Given the description of an element on the screen output the (x, y) to click on. 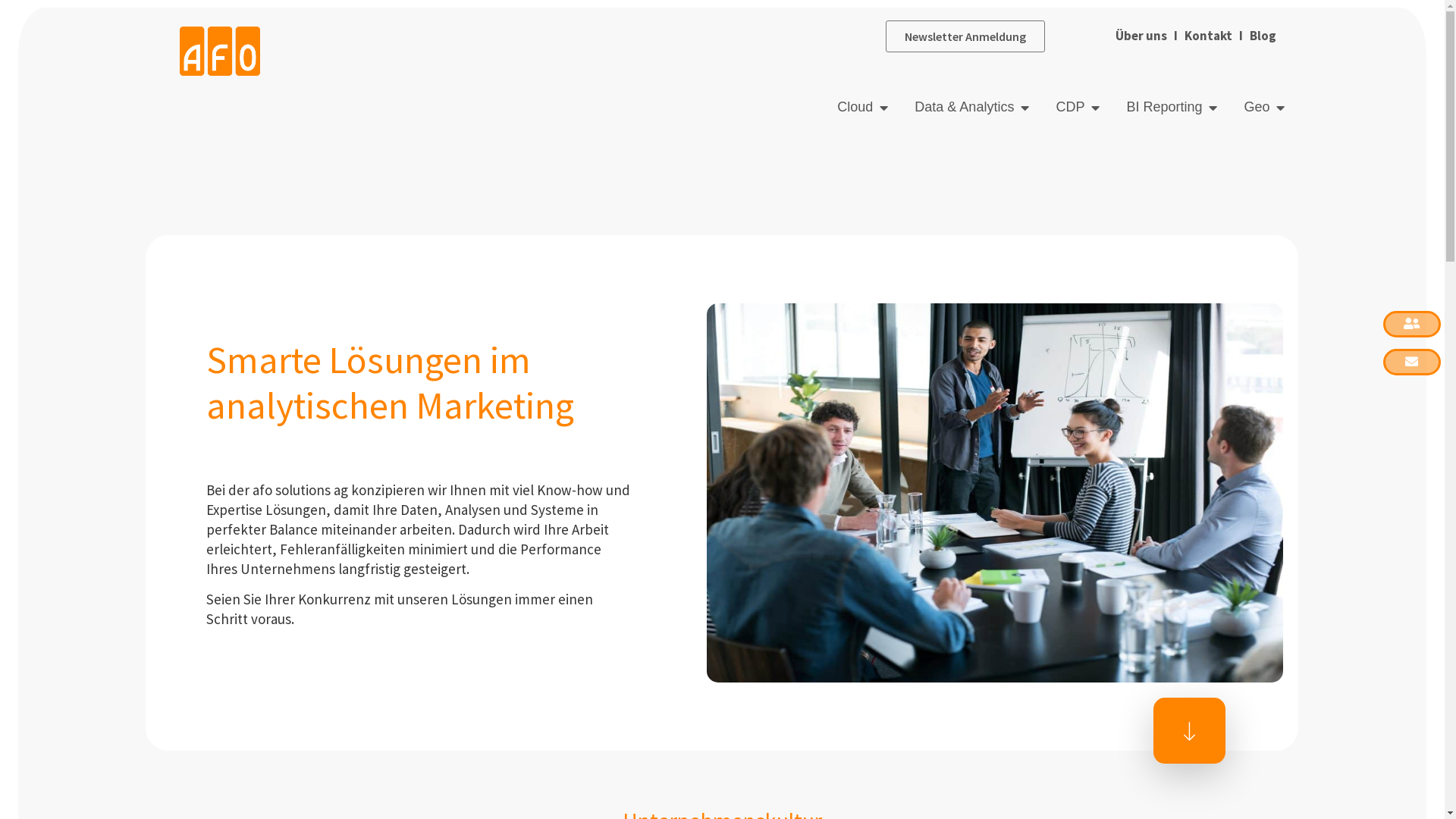
 Blog Element type: text (1261, 35)
Kontakt Element type: text (1208, 35)
Newsletter Anmeldung Element type: text (964, 36)
